Given the description of an element on the screen output the (x, y) to click on. 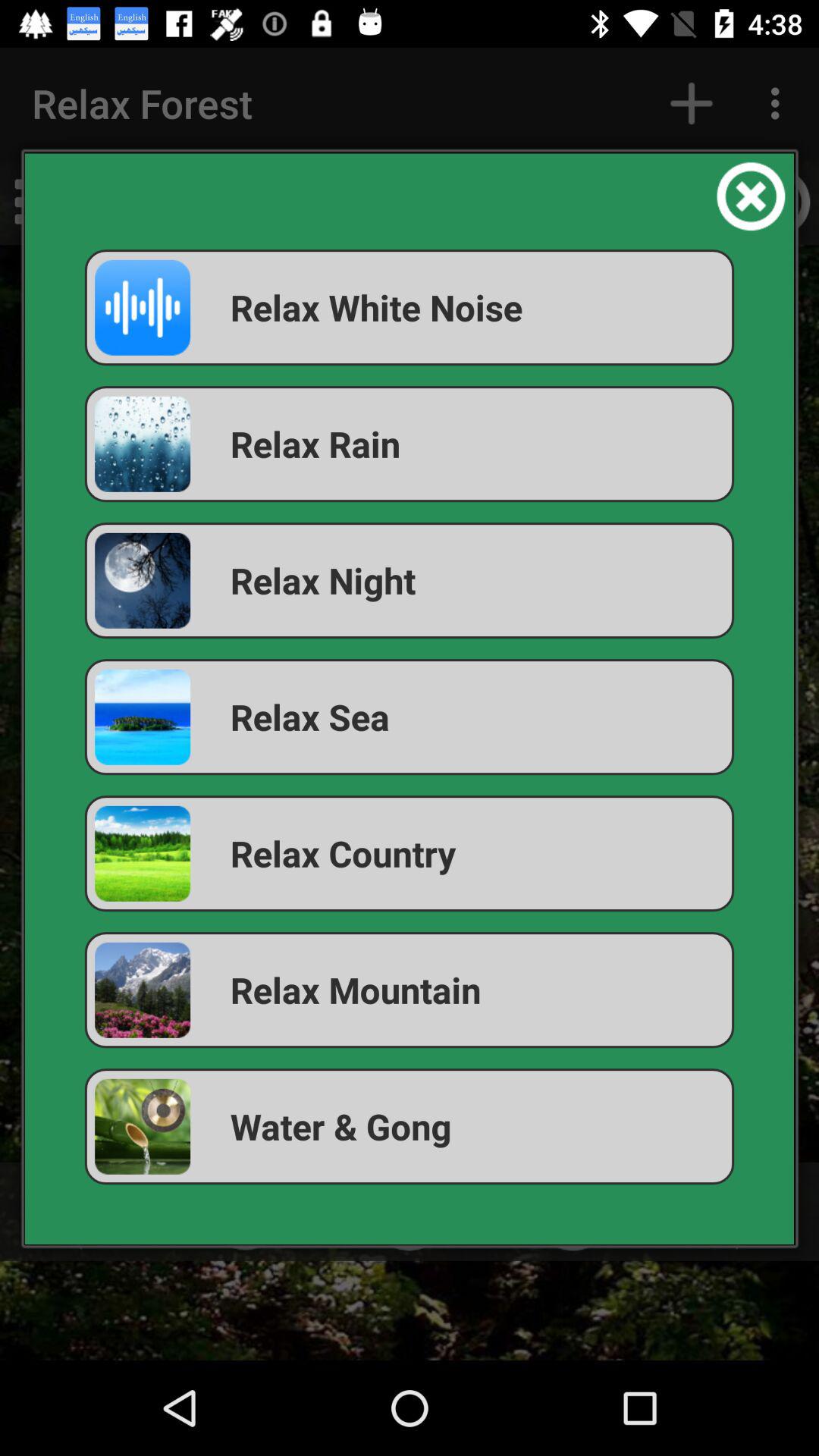
turn on relax rain item (409, 444)
